Given the description of an element on the screen output the (x, y) to click on. 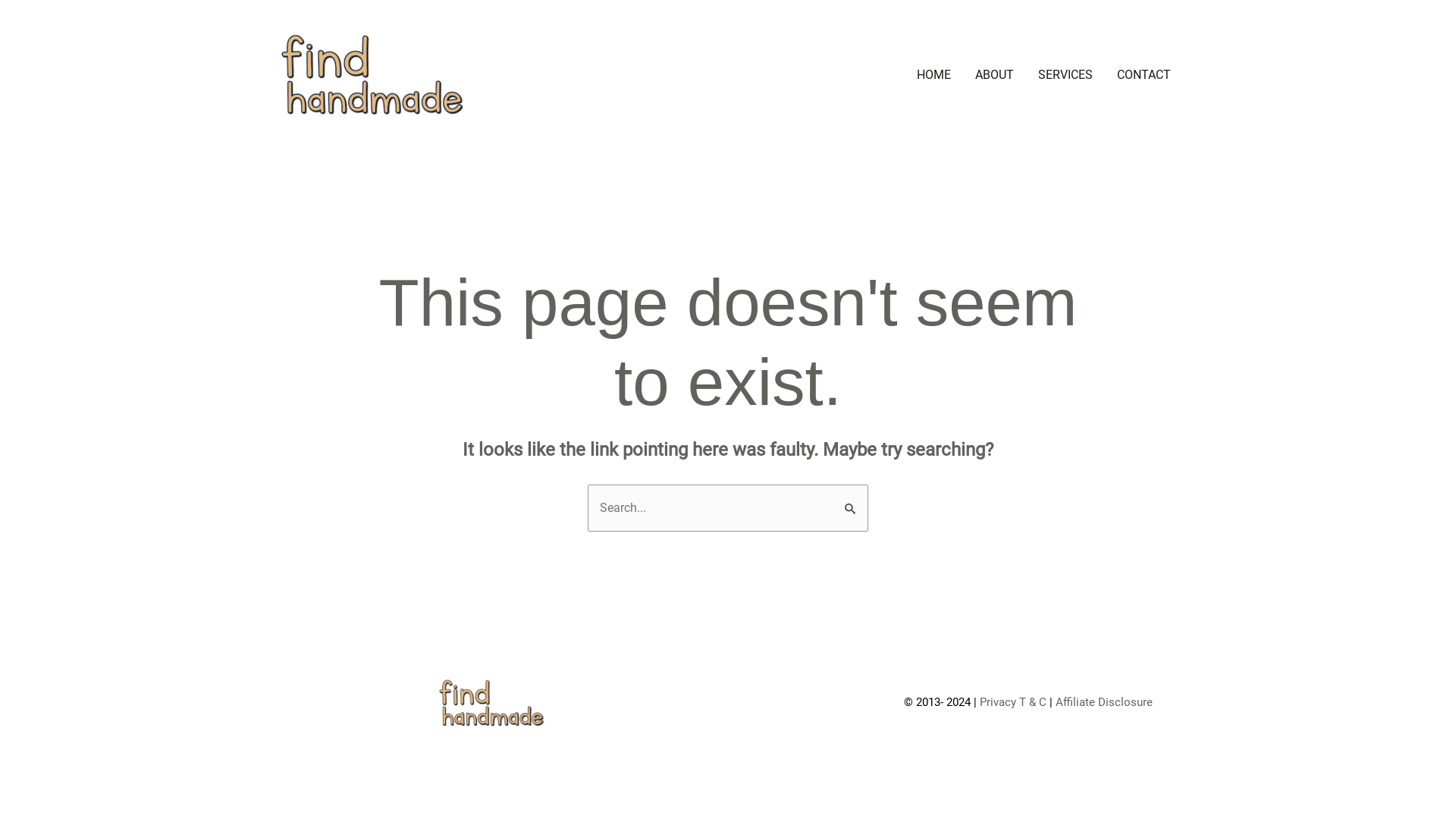
HOME Element type: text (933, 74)
ABOUT Element type: text (994, 74)
Search Element type: text (851, 500)
SERVICES Element type: text (1065, 74)
CONTACT Element type: text (1143, 74)
Affiliate Disclosure Element type: text (1103, 702)
Privacy T & C Element type: text (1012, 702)
